Given the description of an element on the screen output the (x, y) to click on. 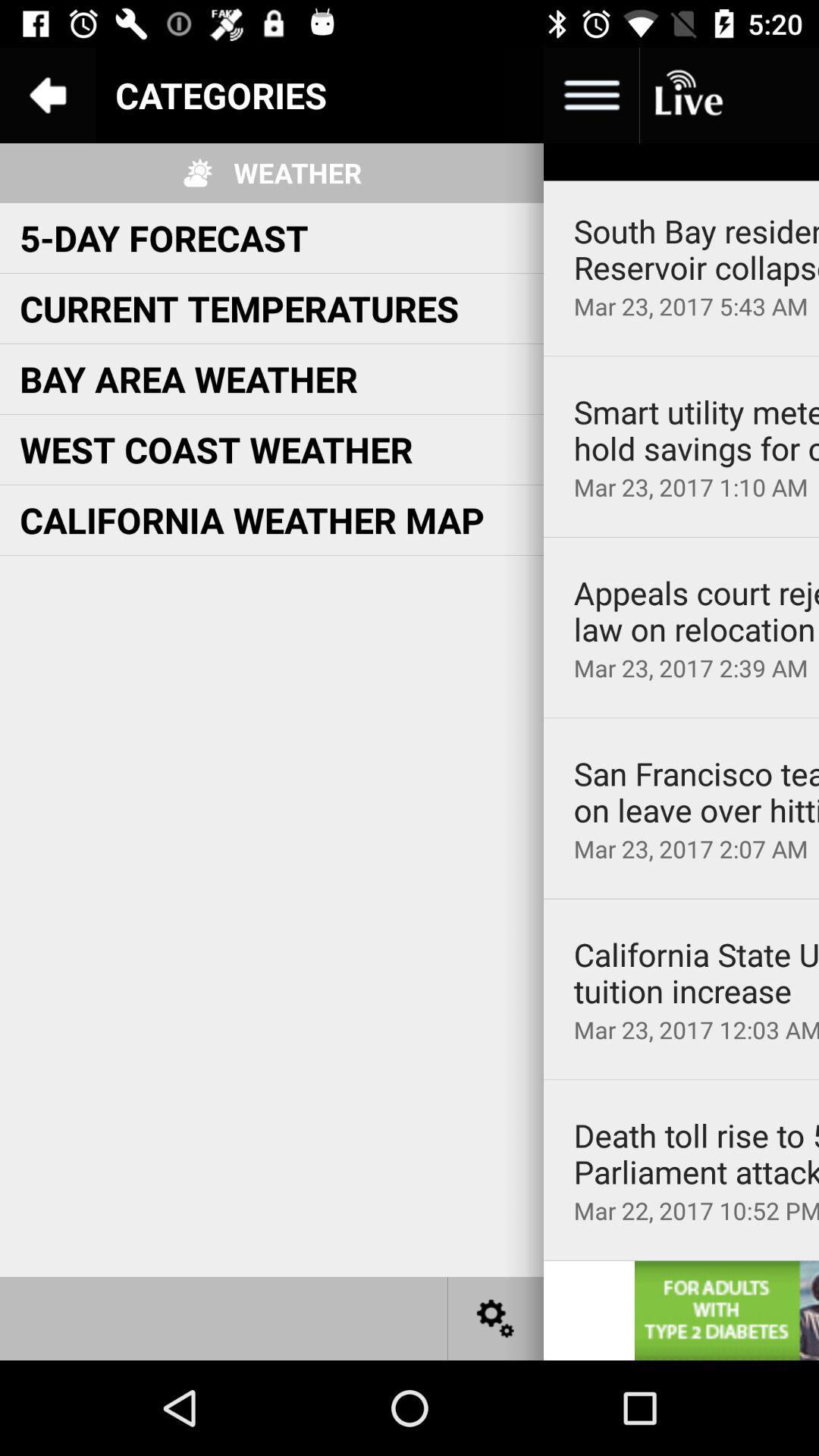
goto back (47, 95)
